Given the description of an element on the screen output the (x, y) to click on. 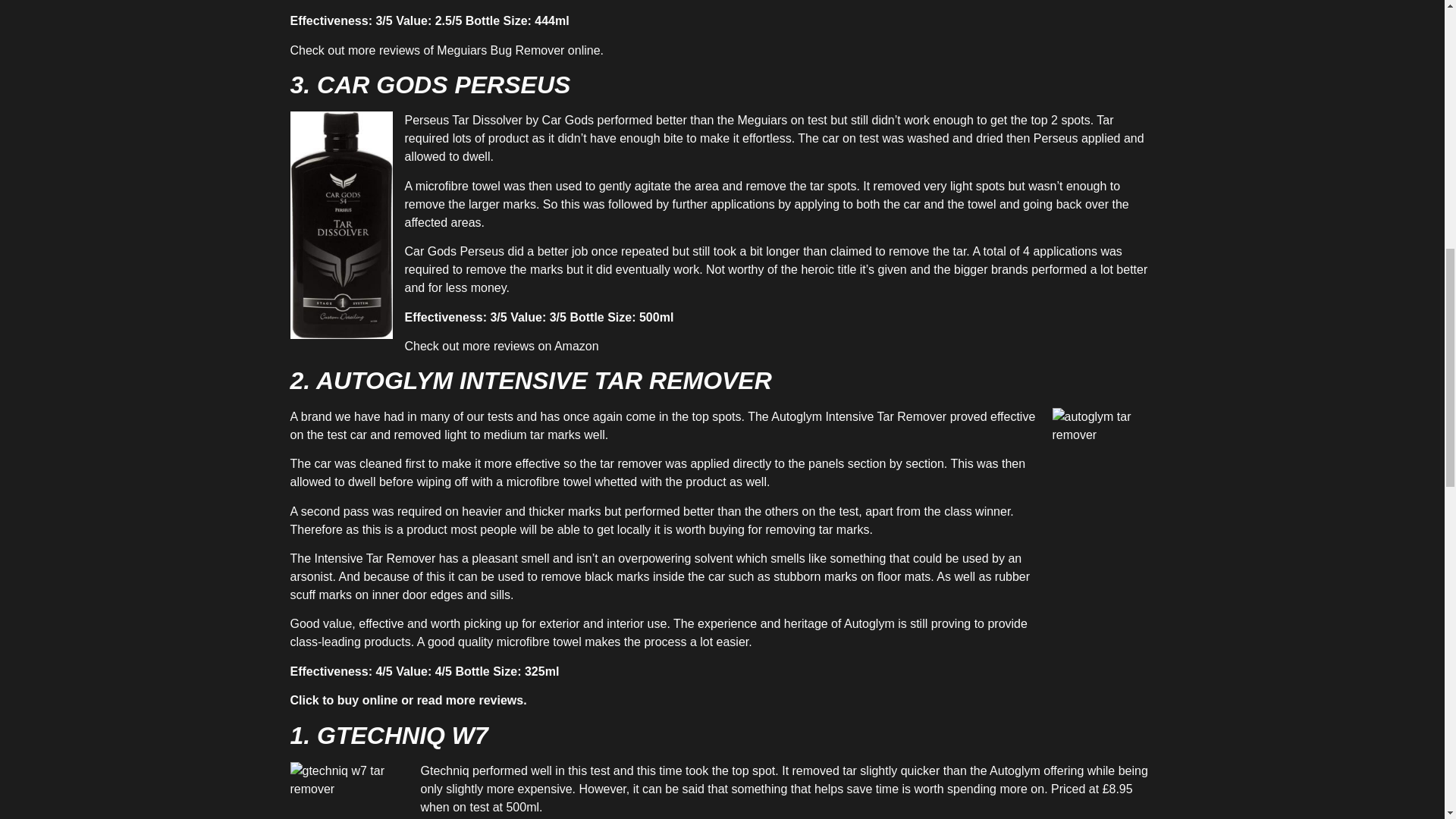
microfibre towel (457, 185)
Check out more reviews of Meguiars Bug Remover online. (446, 50)
CAR GODS PERSEUS (443, 84)
Car Gods Perseus (454, 250)
